Given the description of an element on the screen output the (x, y) to click on. 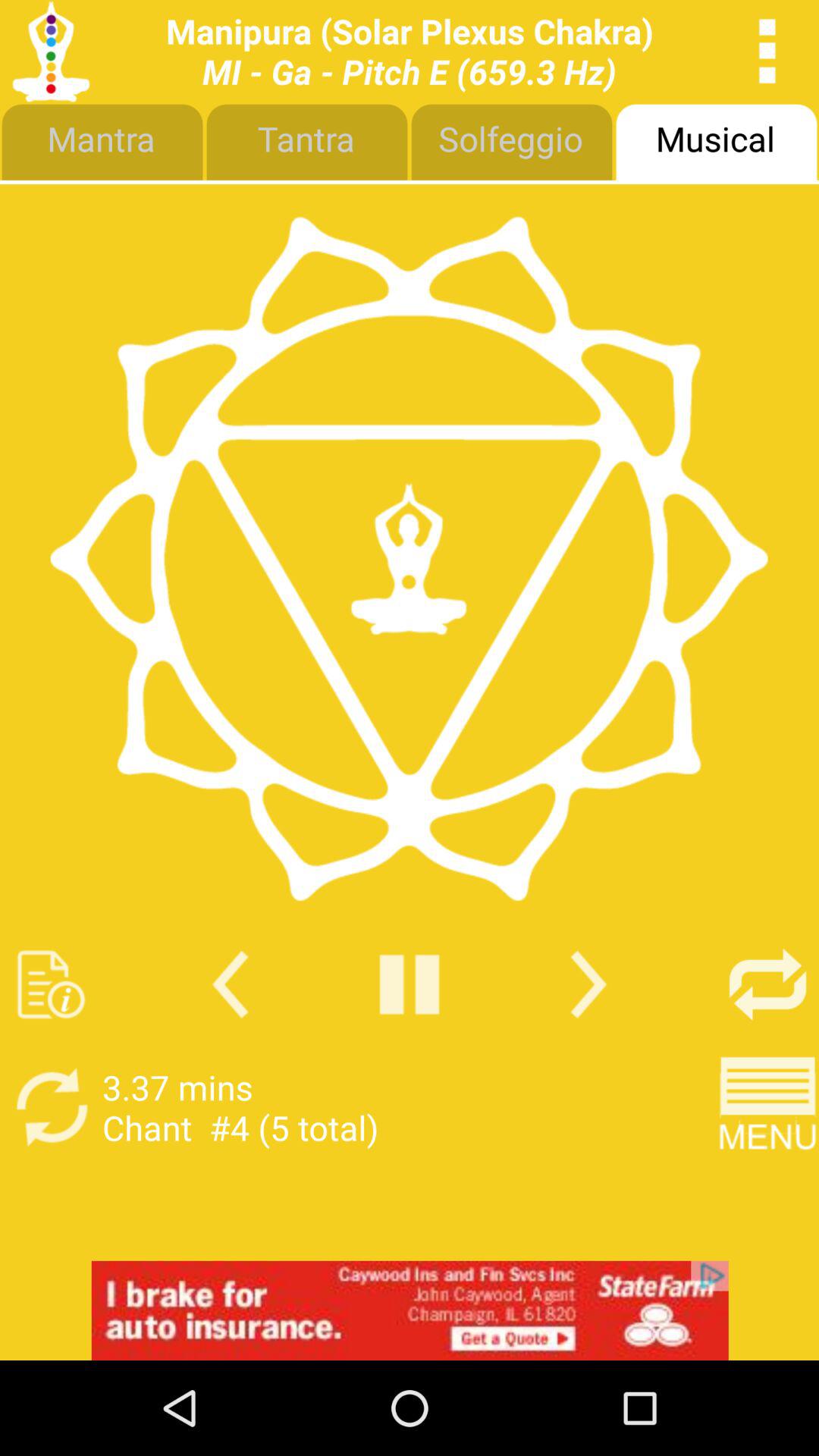
info button (51, 984)
